Given the description of an element on the screen output the (x, y) to click on. 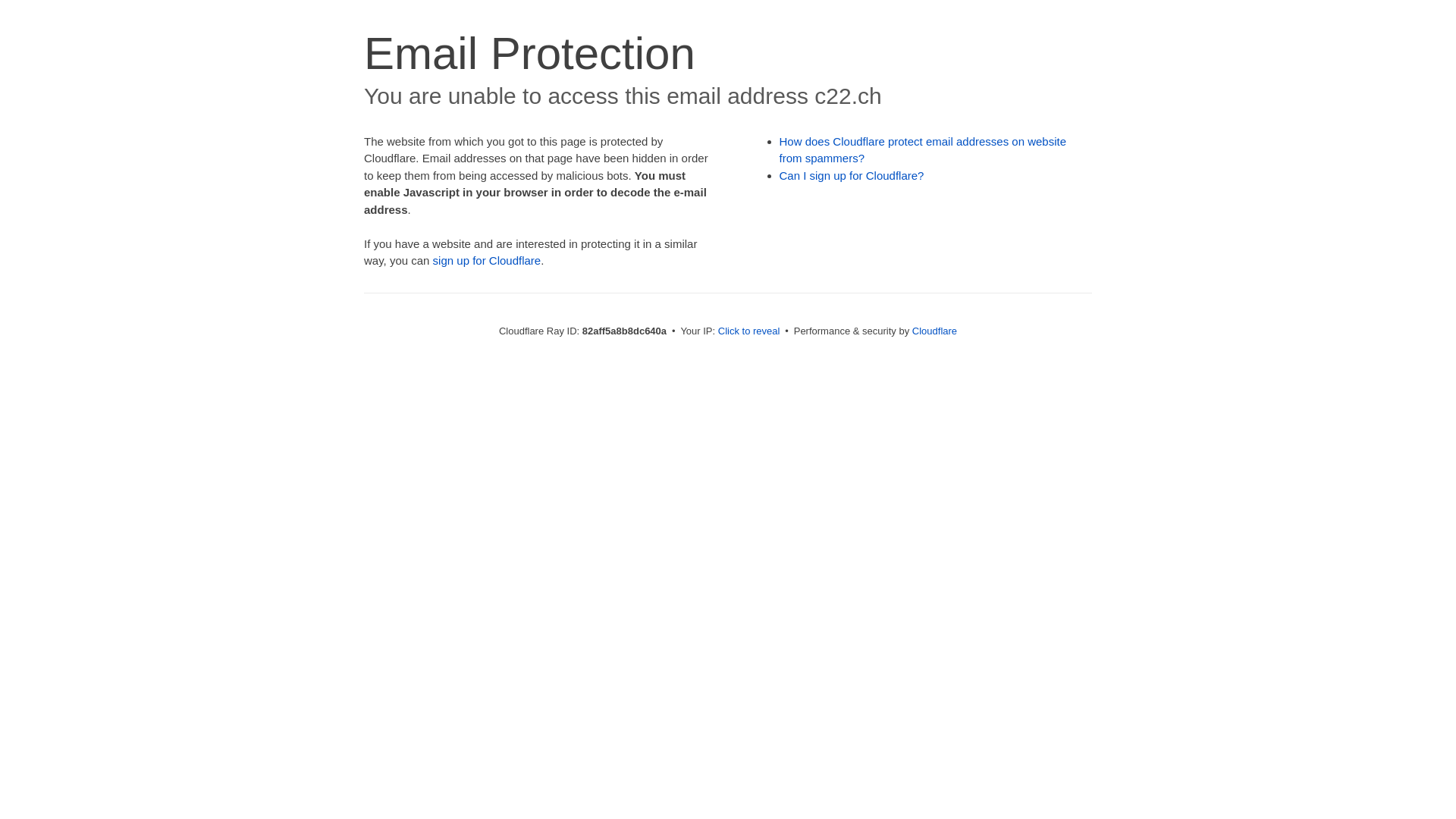
Can I sign up for Cloudflare? Element type: text (851, 175)
Click to reveal Element type: text (749, 330)
Cloudflare Element type: text (934, 330)
sign up for Cloudflare Element type: text (487, 260)
